Given the description of an element on the screen output the (x, y) to click on. 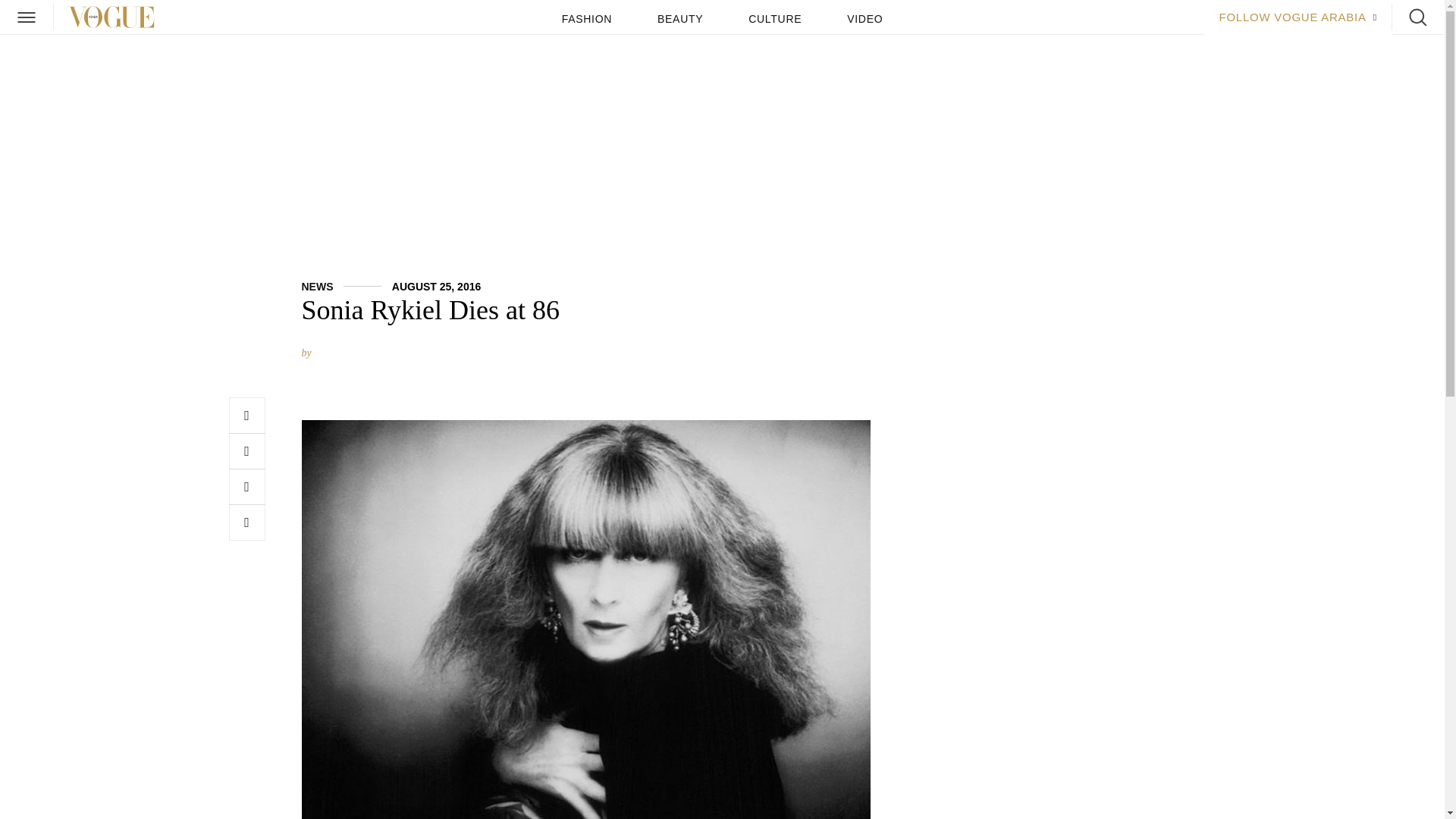
VIDEO (864, 19)
BEAUTY (680, 19)
CULTURE (775, 19)
NEWS (317, 286)
FASHION (586, 19)
